Given the description of an element on the screen output the (x, y) to click on. 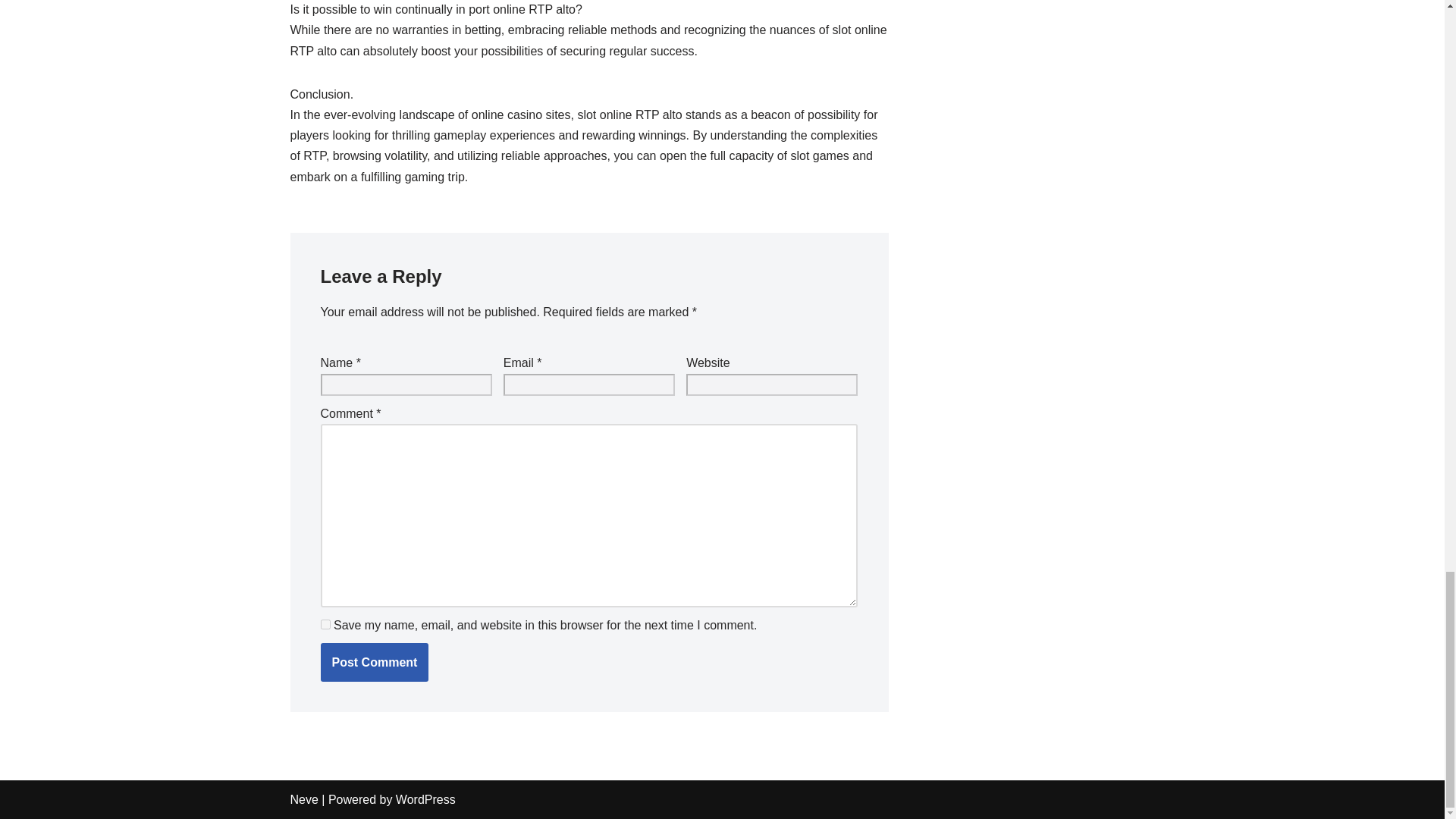
yes (325, 623)
Post Comment (374, 662)
Neve (303, 799)
Post Comment (374, 662)
WordPress (425, 799)
